Given the description of an element on the screen output the (x, y) to click on. 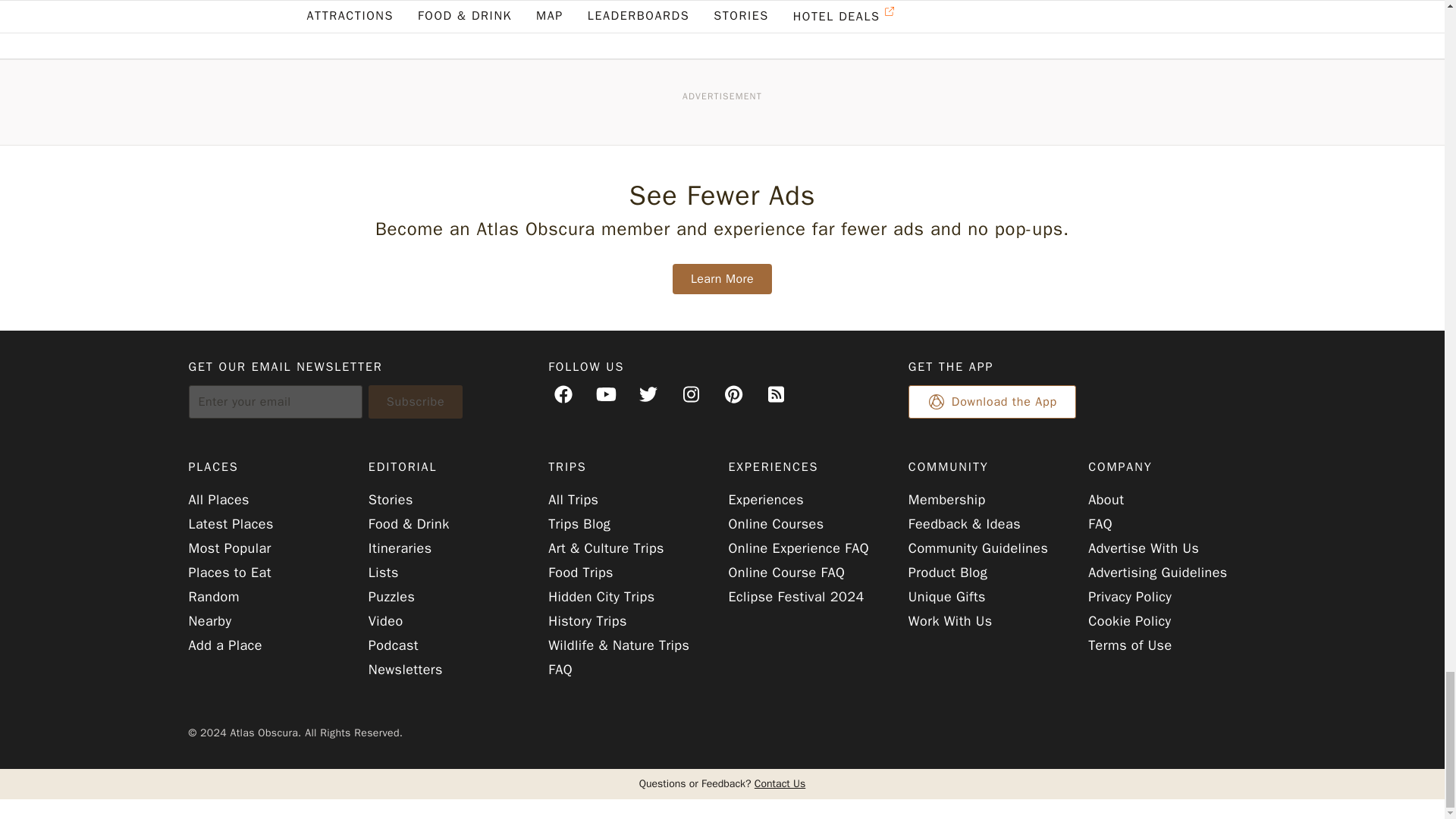
Subscribe (415, 401)
